Given the description of an element on the screen output the (x, y) to click on. 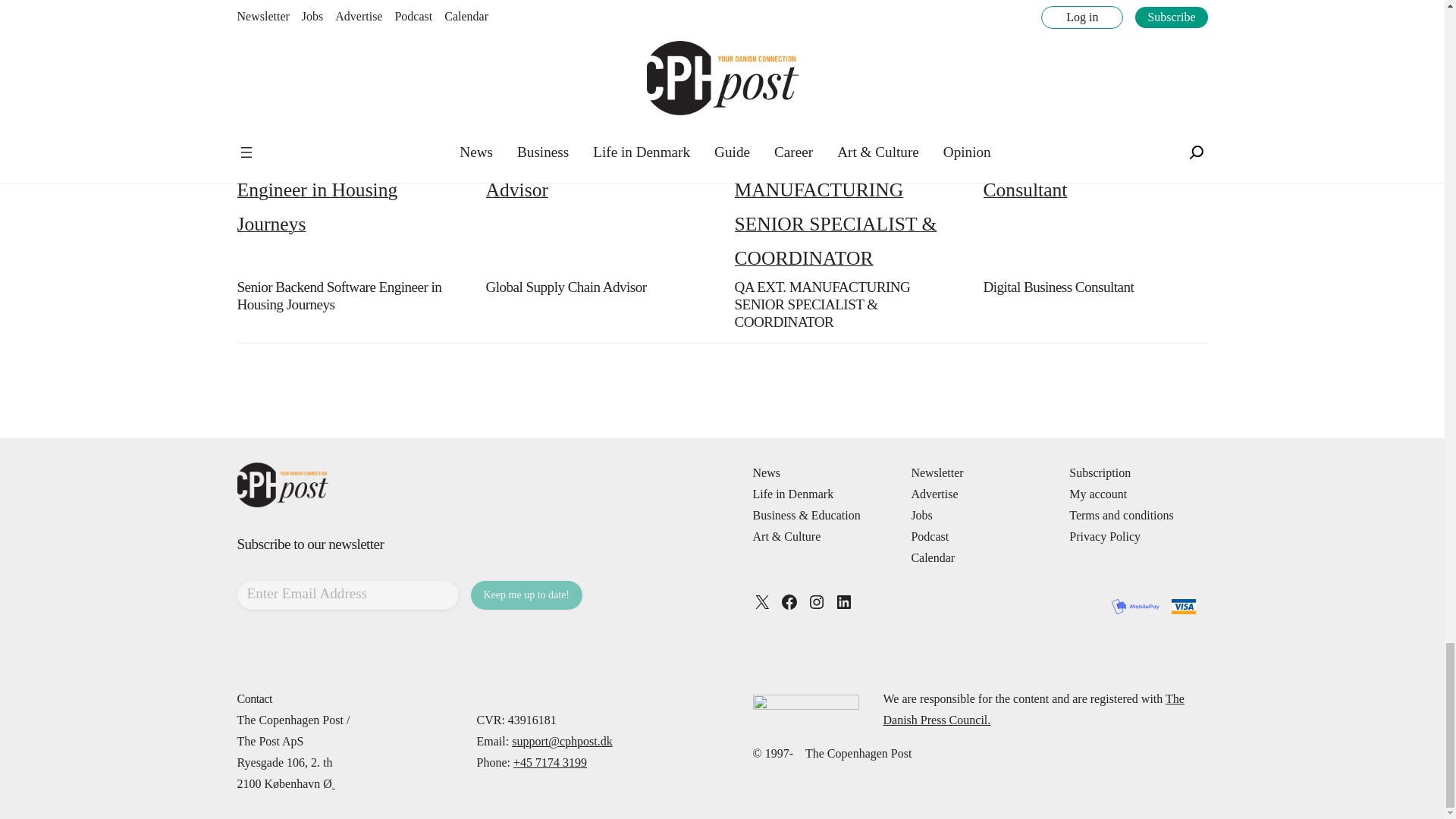
Keep me up to date! (526, 594)
